Given the description of an element on the screen output the (x, y) to click on. 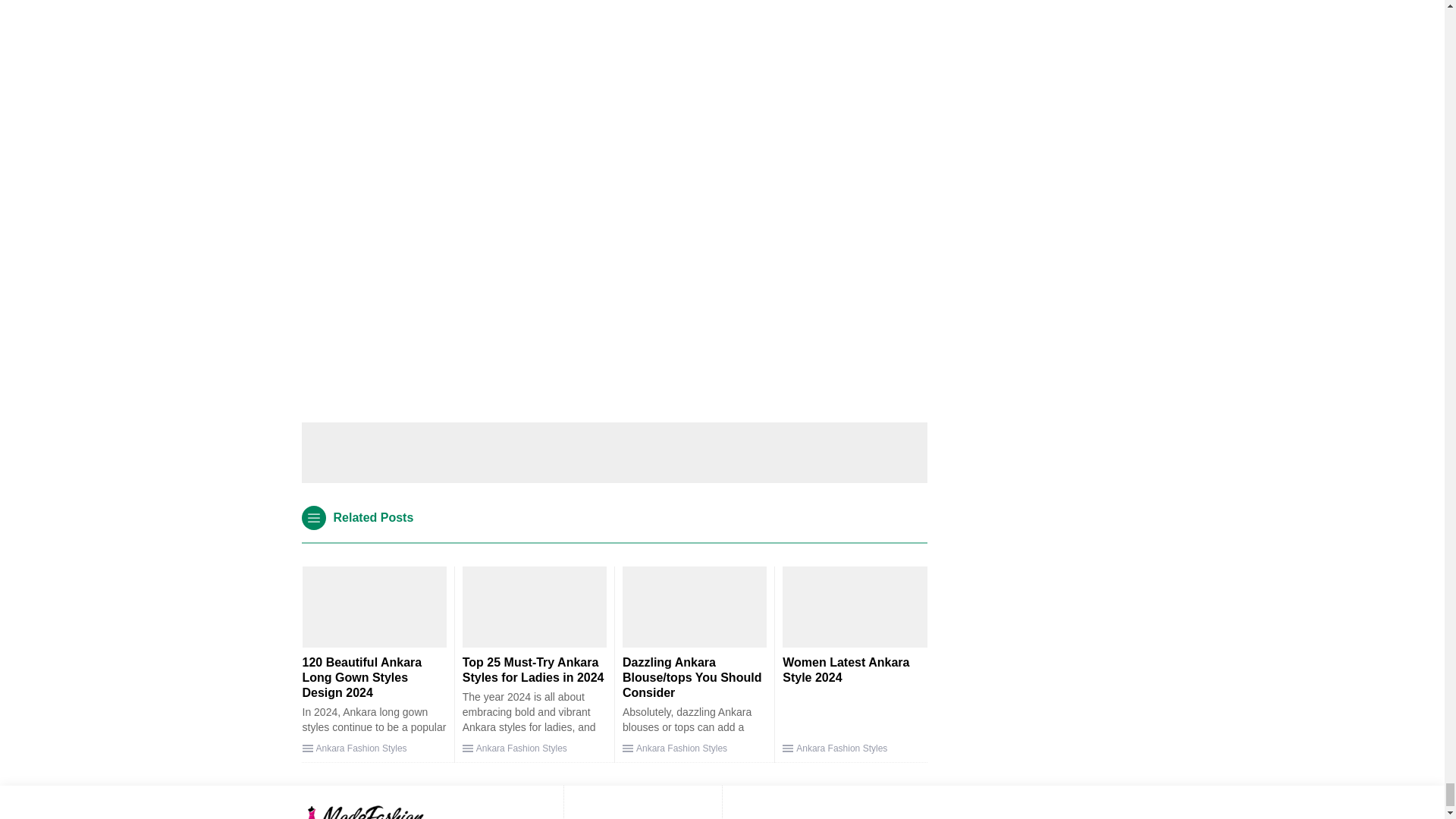
Top 25 Must-Try Ankara Styles for Ladies in 2024 (533, 669)
Fashion Lifestyle Trends (381, 811)
Ankara Fashion Styles (360, 747)
Ankara Fashion Styles (521, 747)
Ankara Fashion Styles (681, 747)
120 Beautiful Ankara Long Gown Styles Design 2024 (361, 677)
